Given the description of an element on the screen output the (x, y) to click on. 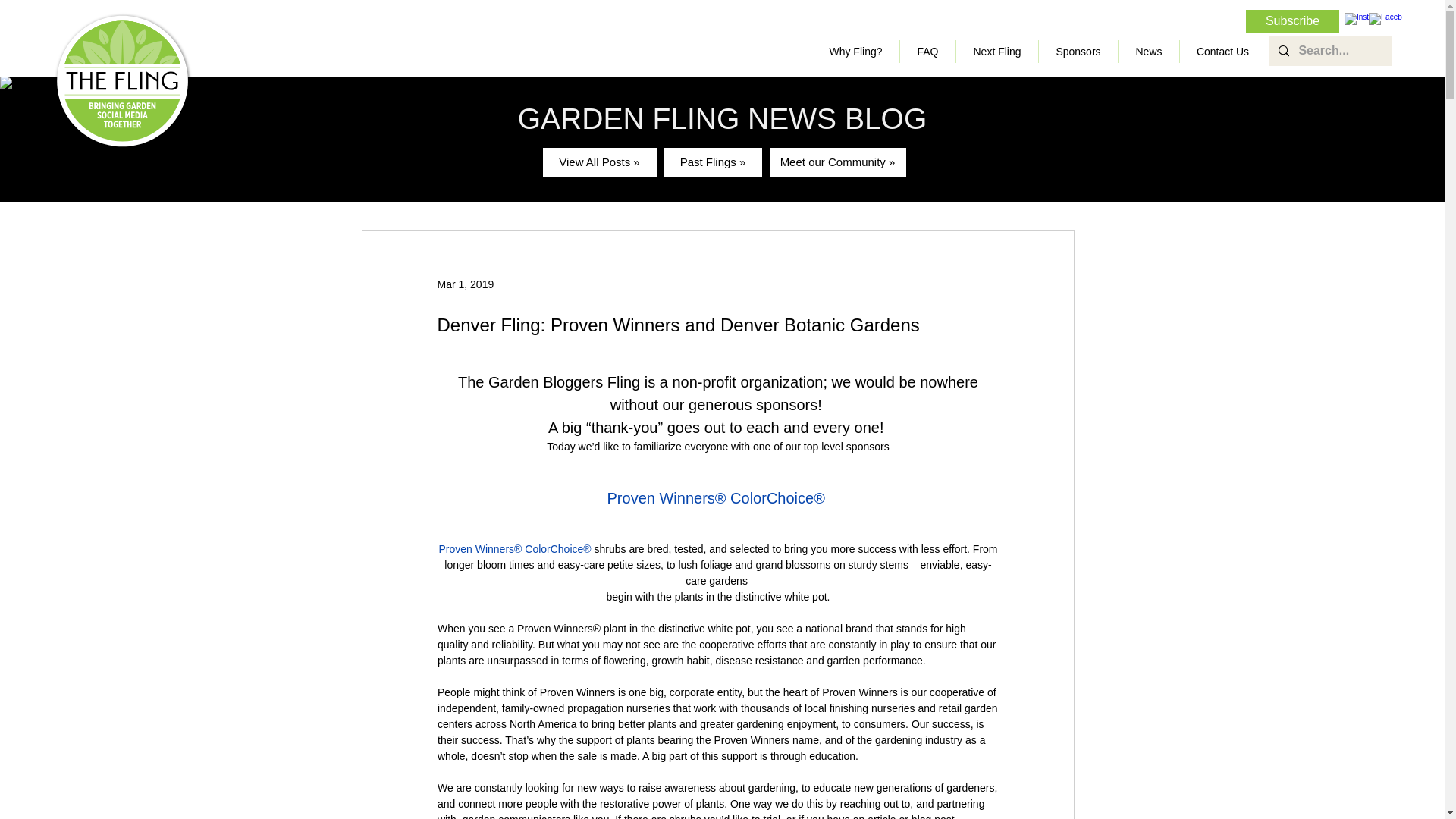
News (1148, 51)
Contact Us (1222, 51)
Mar 1, 2019 (464, 284)
GARDEN FLING NEWS BLOG (722, 118)
Subscribe (1292, 20)
Sponsors (1078, 51)
Why Fling? (855, 51)
Next Fling (997, 51)
FAQ (927, 51)
